Given the description of an element on the screen output the (x, y) to click on. 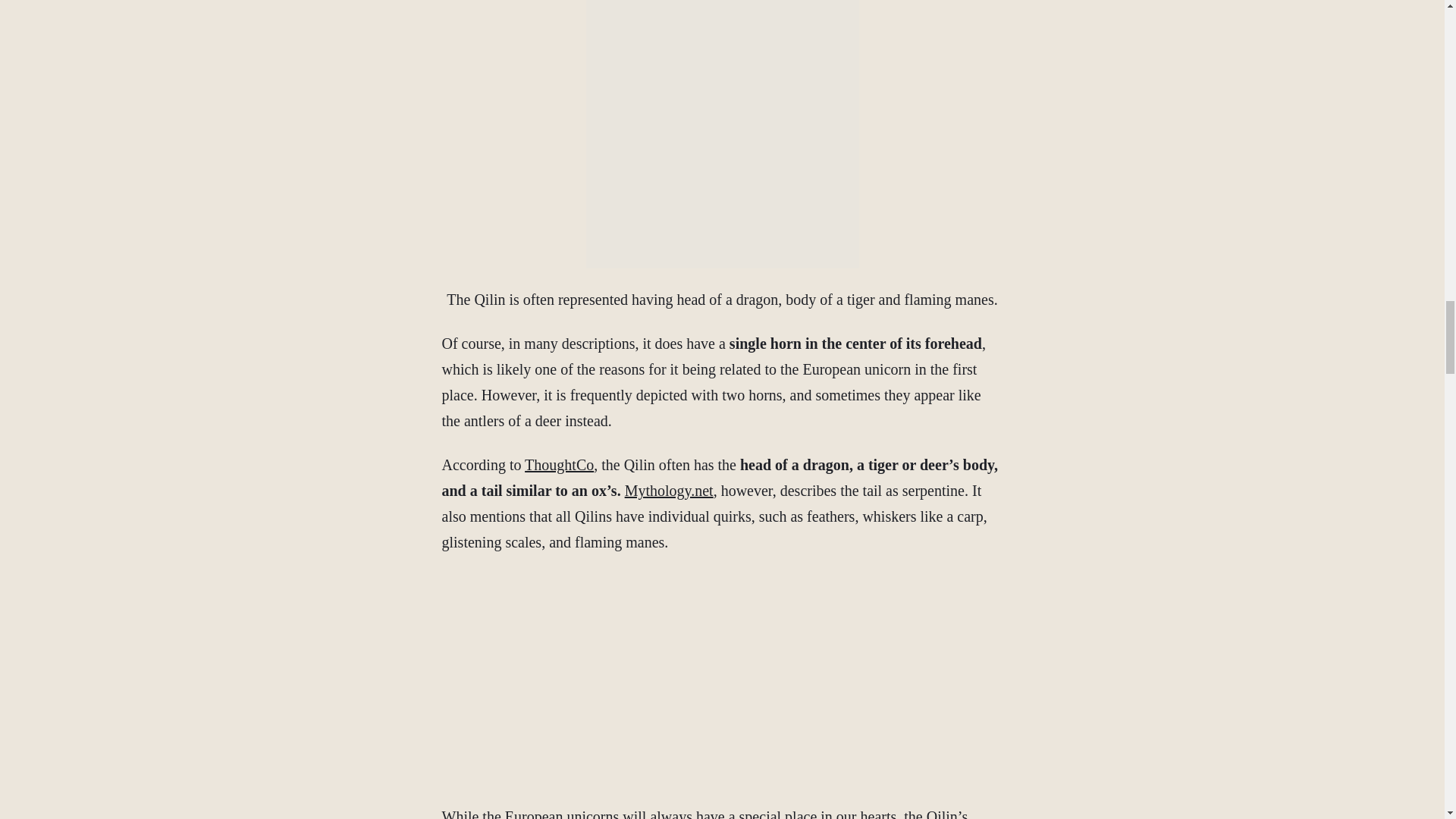
ThoughtCo (559, 464)
Mythology.net (668, 490)
